Given the description of an element on the screen output the (x, y) to click on. 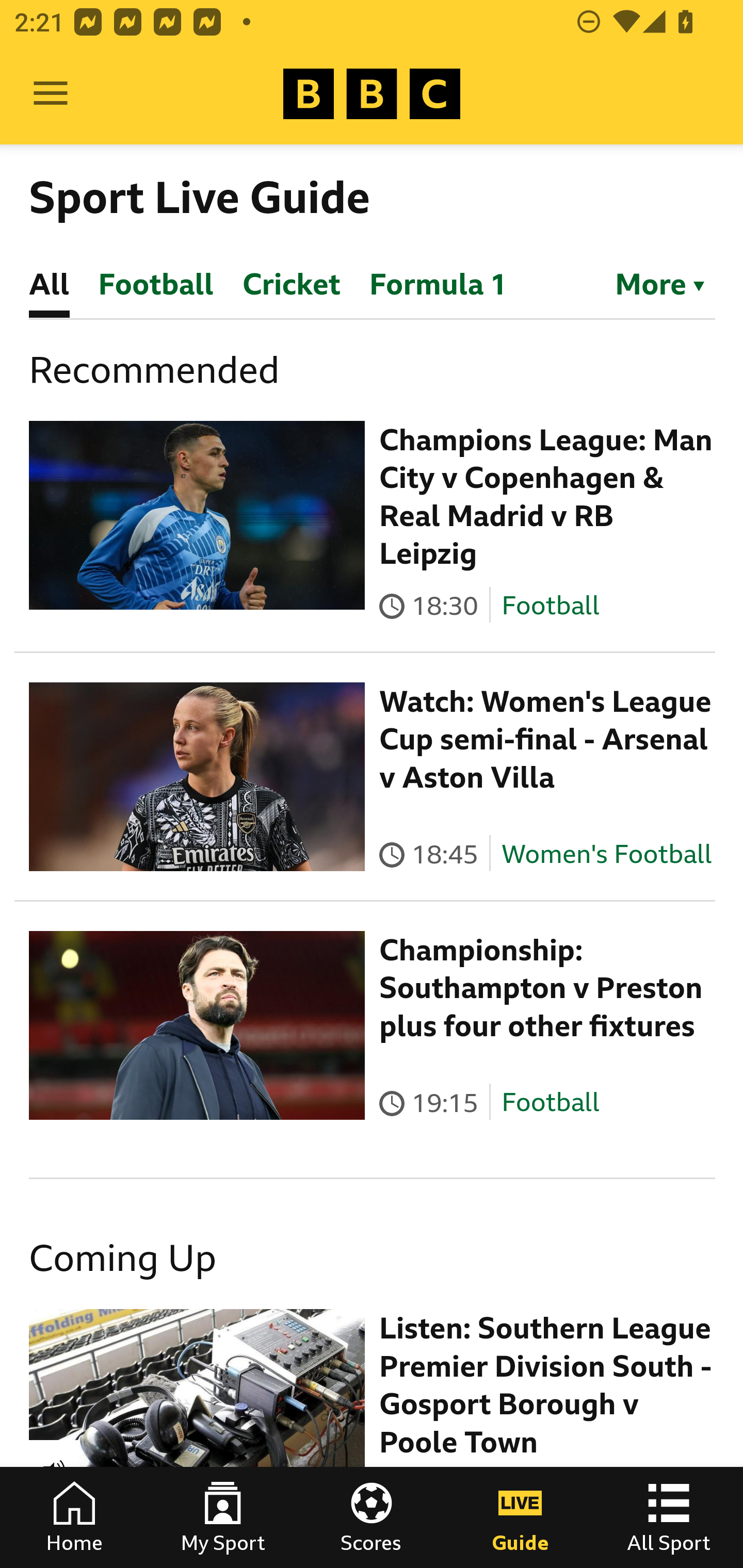
Open Menu (50, 93)
Football (550, 604)
Women's Football (606, 853)
Football (550, 1102)
Home (74, 1517)
My Sport (222, 1517)
Scores (371, 1517)
All Sport (668, 1517)
